Given the description of an element on the screen output the (x, y) to click on. 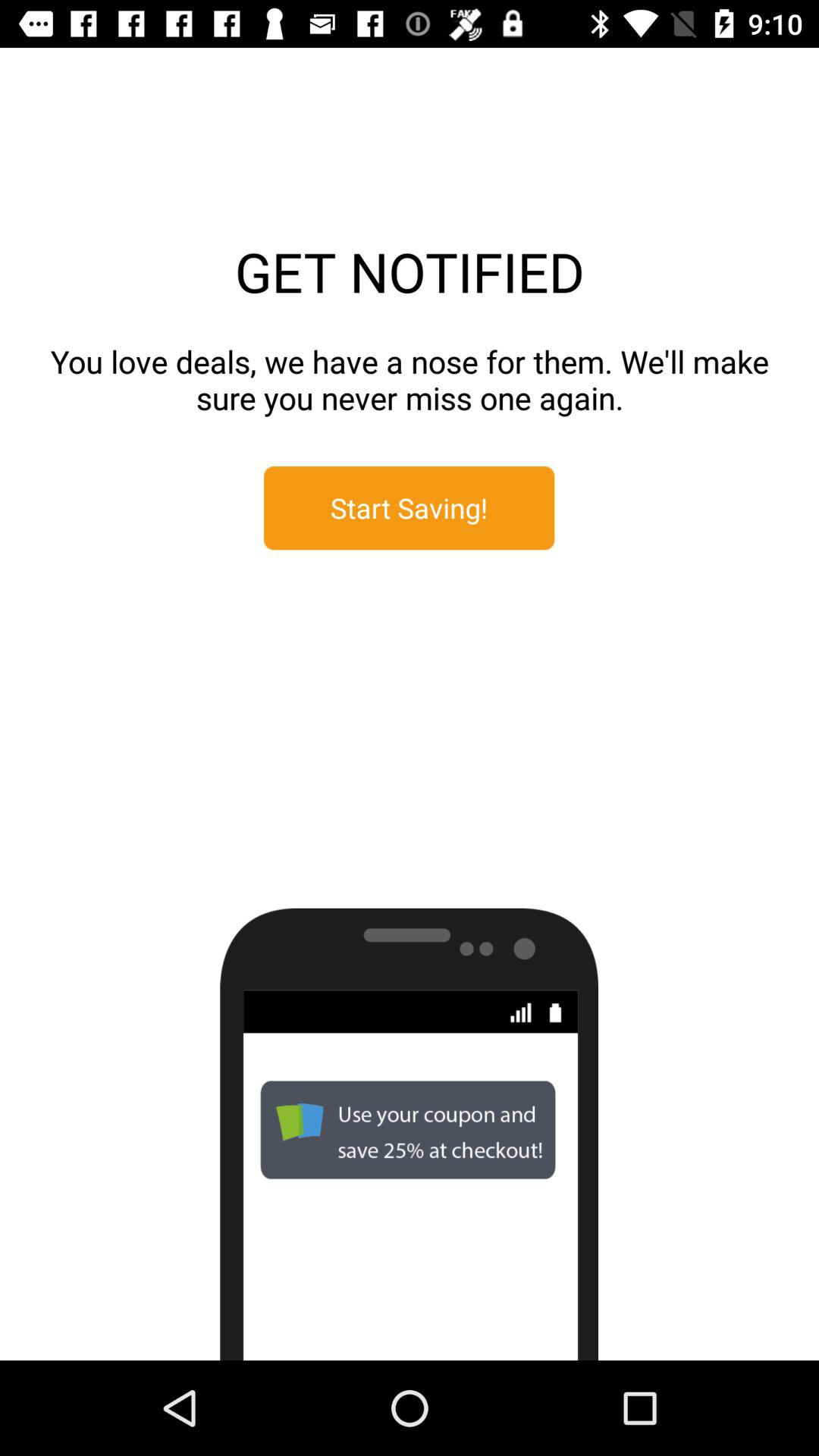
press item below the you love deals (408, 507)
